Given the description of an element on the screen output the (x, y) to click on. 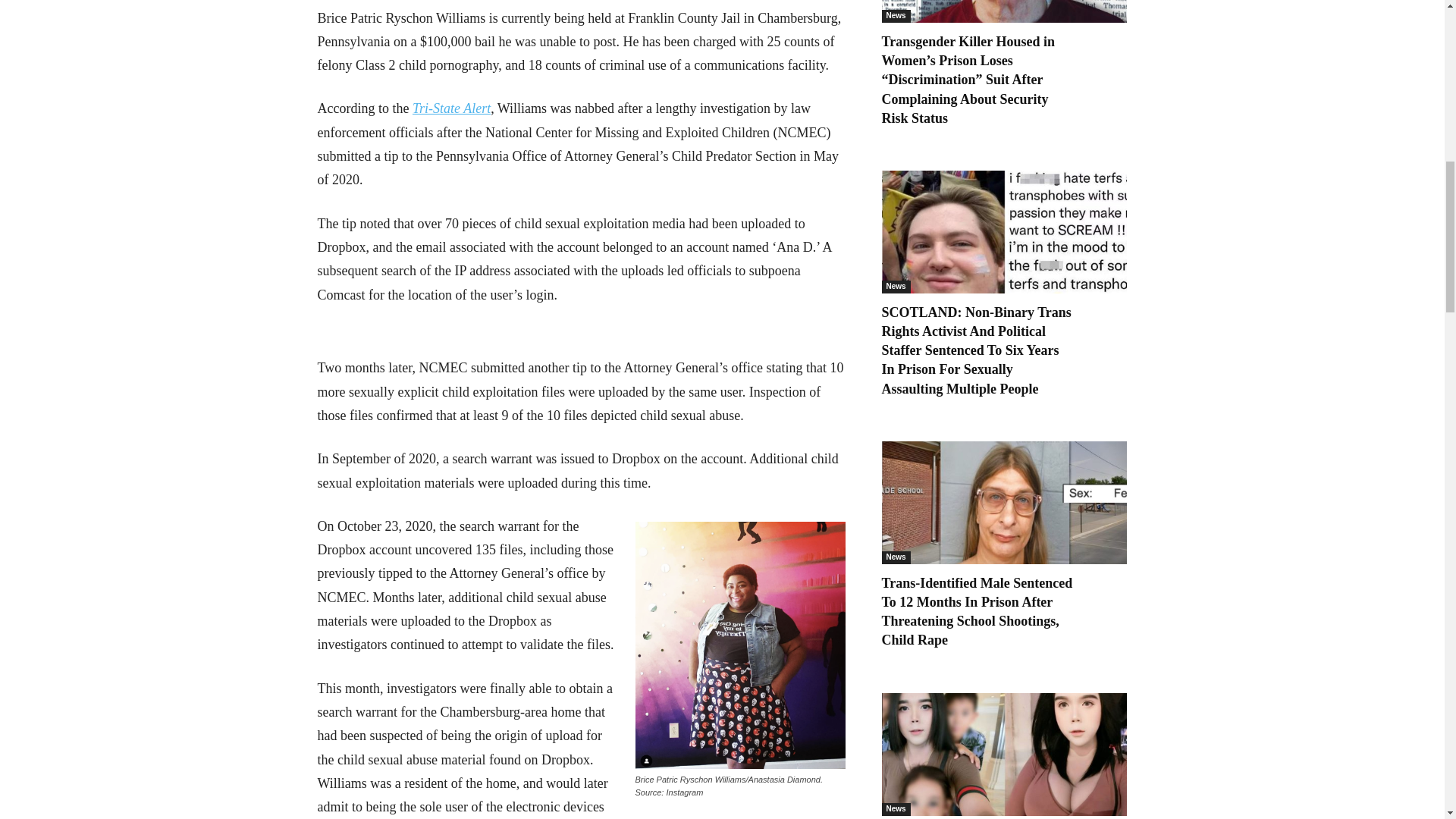
News (895, 286)
News (895, 15)
Tri-State Alert (451, 108)
